Given the description of an element on the screen output the (x, y) to click on. 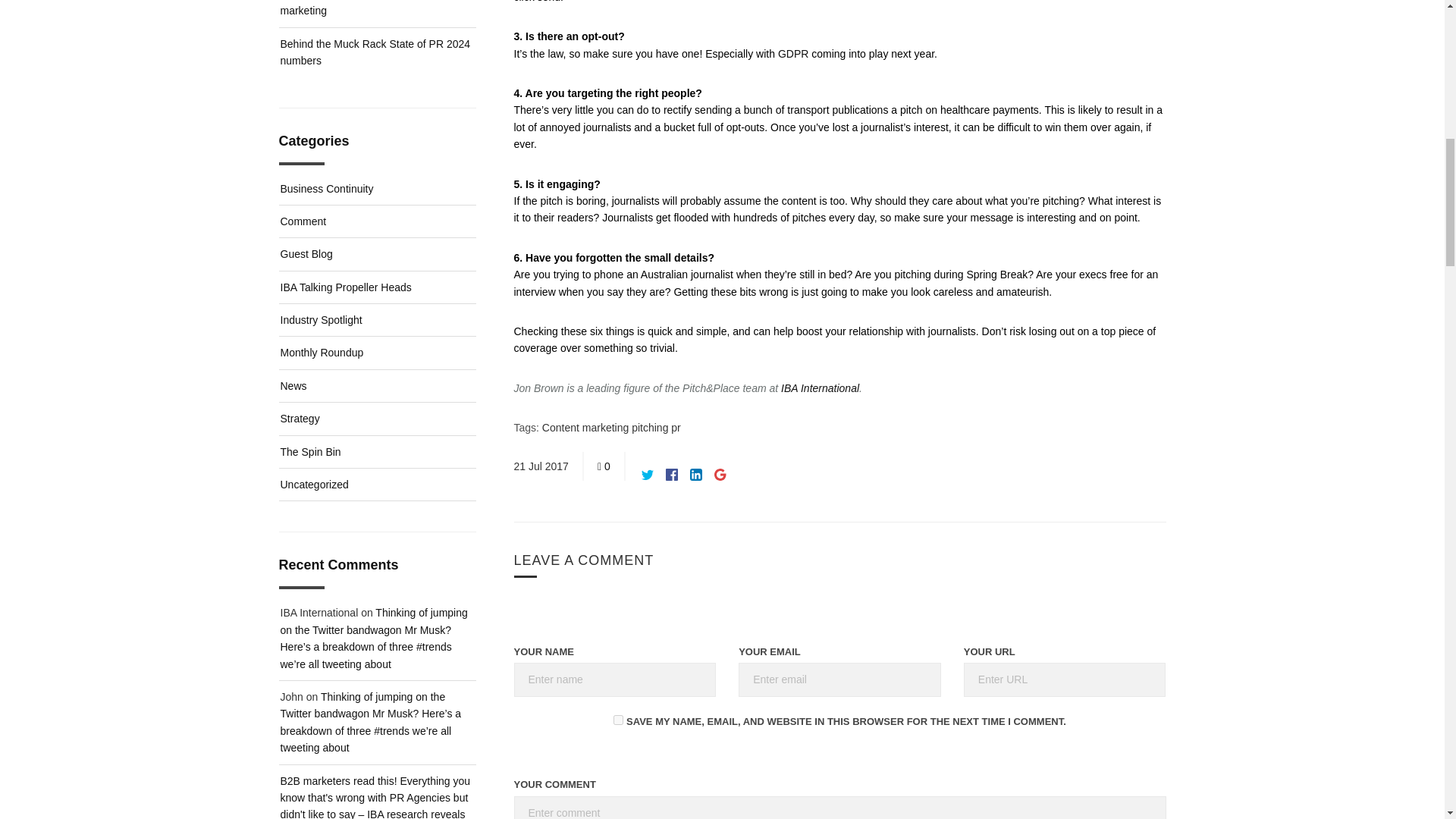
Guest Blog (377, 254)
News (377, 386)
GDPR (792, 53)
IBA Talking Propeller Heads (377, 287)
Industry Spotlight (377, 319)
Strategy (377, 418)
Business Continuity (377, 188)
The intersection of B2B and B2C marketing (358, 8)
IBA International (819, 387)
yes (617, 719)
The Spin Bin (377, 451)
Monthly Roundup (377, 352)
pitching (651, 427)
Behind the Muck Rack State of PR 2024 numbers (375, 51)
Comment (377, 221)
